Given the description of an element on the screen output the (x, y) to click on. 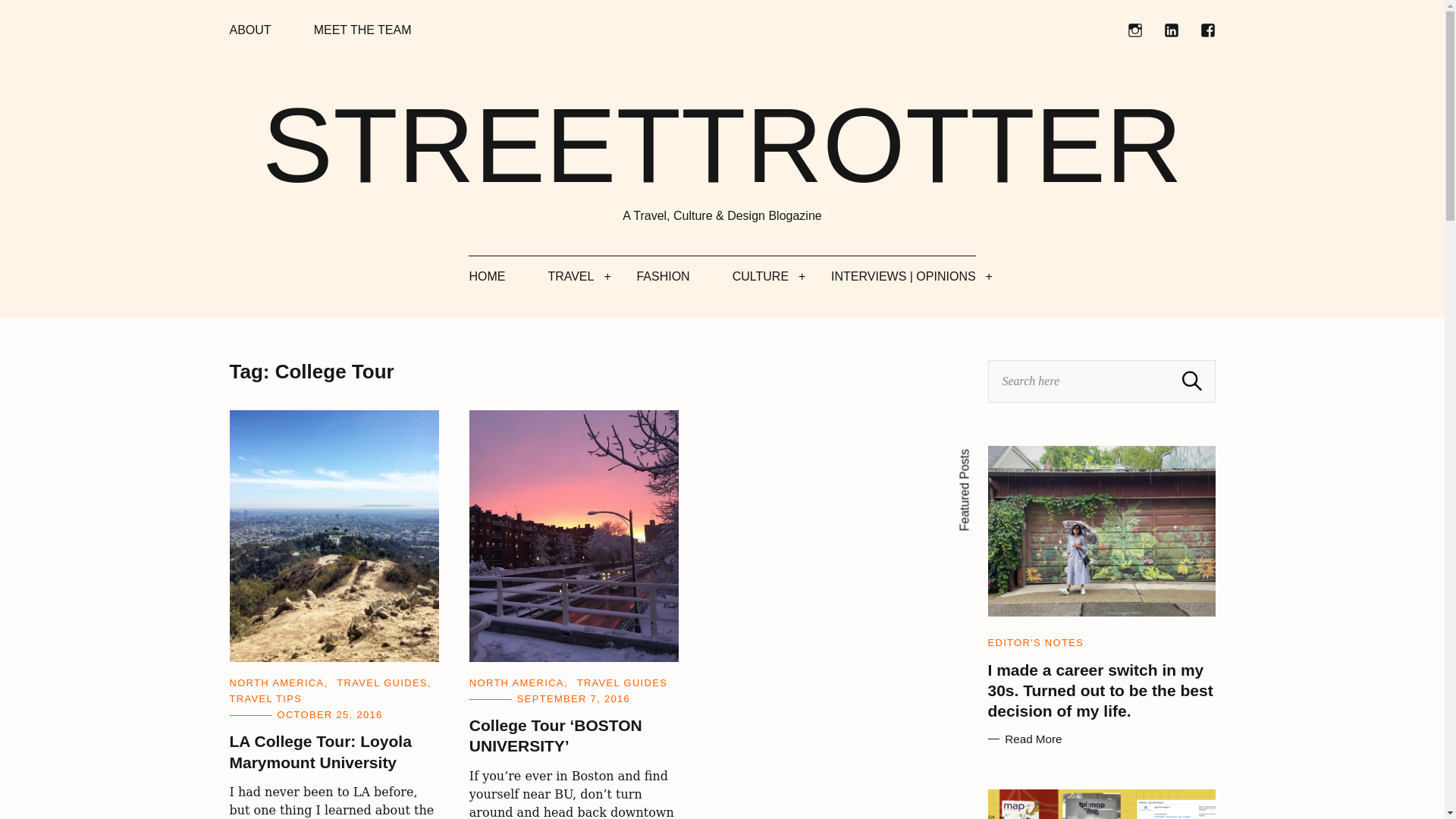
NORTH AMERICA (516, 682)
MEET THE TEAM (363, 29)
Facebook (1206, 29)
TRAVEL TIPS (264, 698)
Instagram (1133, 29)
TRAVEL GUIDES (621, 682)
Linkedin (1170, 29)
HOME (486, 276)
STREETTROTTER (722, 145)
EDITOR'S NOTES (1035, 642)
